Given the description of an element on the screen output the (x, y) to click on. 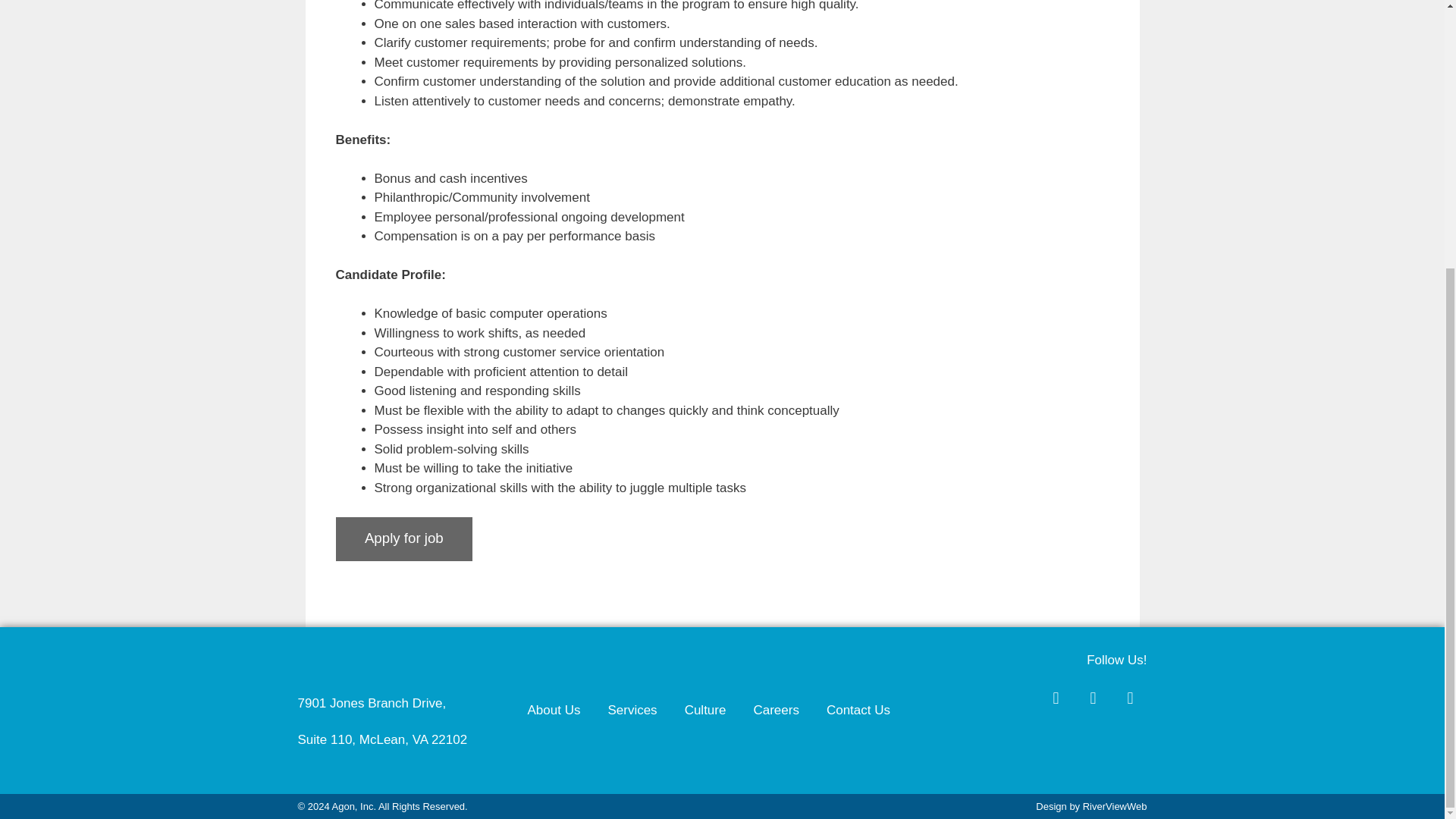
Careers (775, 709)
Contact Us (858, 709)
Services (631, 709)
About Us (553, 709)
Culture (705, 709)
Apply for job (402, 538)
